Given the description of an element on the screen output the (x, y) to click on. 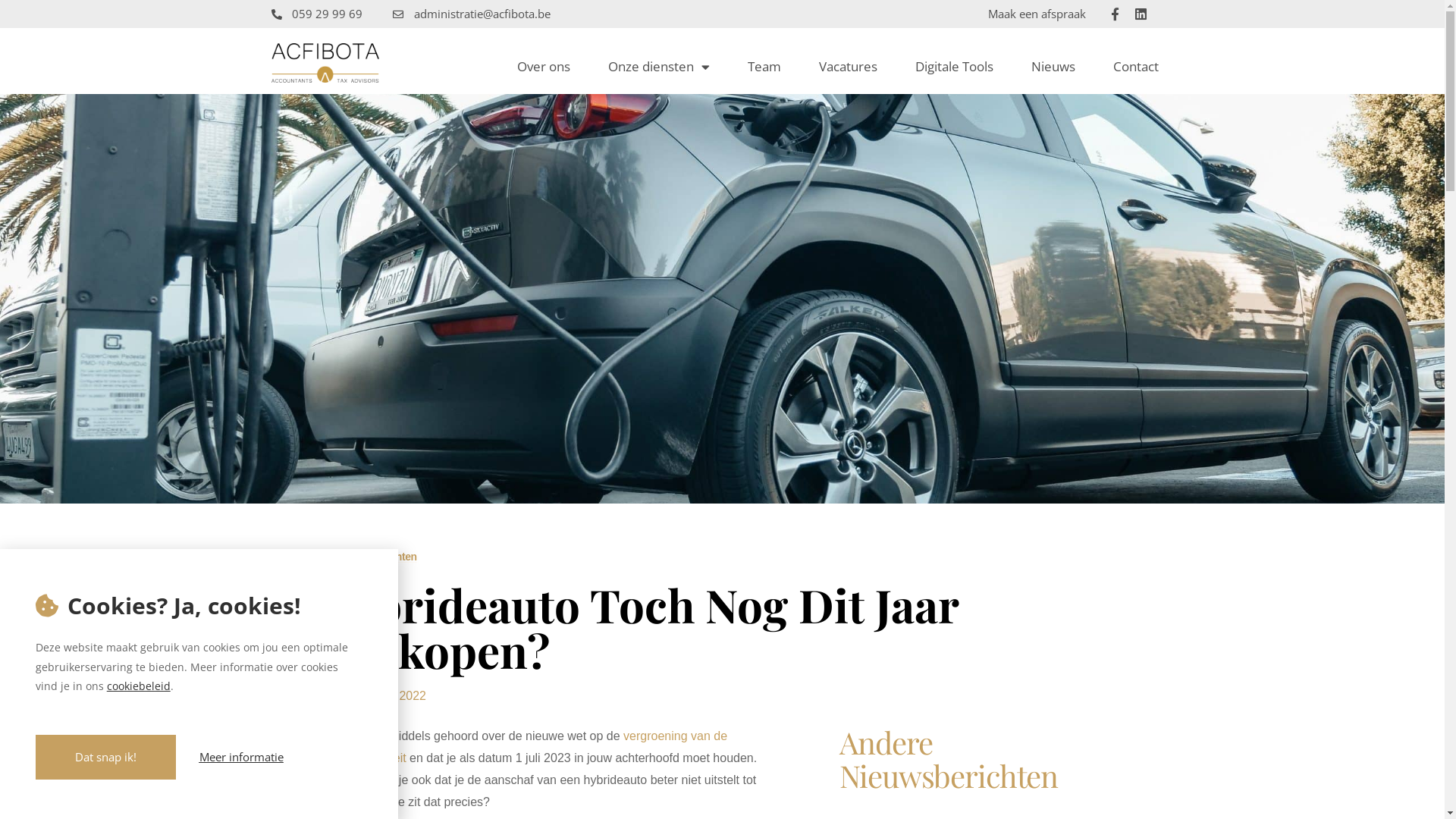
Alle Nieuwsberichten Element type: text (366, 556)
Nieuws Element type: text (1053, 66)
Dat snap ik! Element type: text (105, 756)
cookiebeleid Element type: text (138, 685)
vergroening van de autofiscaliteit Element type: text (531, 746)
059 29 99 69 Element type: text (317, 13)
Digitale Tools Element type: text (953, 66)
Vacatures Element type: text (847, 66)
Team Element type: text (764, 66)
Contact Element type: text (1135, 66)
Over ons Element type: text (543, 66)
Maak een afspraak Element type: text (1036, 13)
administratie@acfibota.be Element type: text (471, 13)
Meer informatie Element type: text (240, 756)
Onze diensten Element type: text (658, 66)
